Given the description of an element on the screen output the (x, y) to click on. 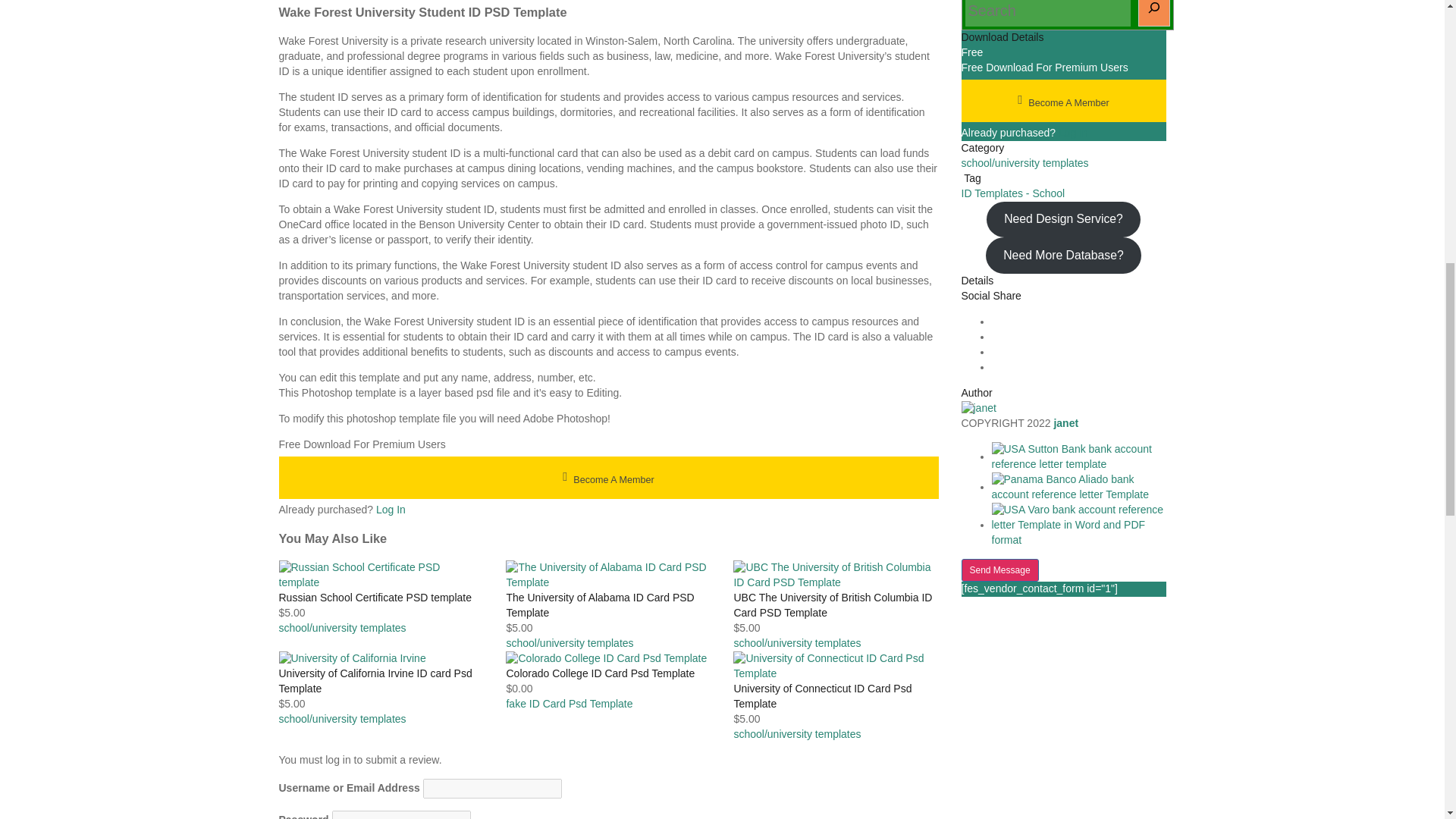
Wake Forest University Student ID PSD Template 2 (381, 575)
Wake Forest University Student ID PSD Template 3 (607, 575)
Wake Forest University Student ID PSD Template 4 (835, 575)
Wake Forest University Student ID PSD Template 5 (352, 658)
